Given the description of an element on the screen output the (x, y) to click on. 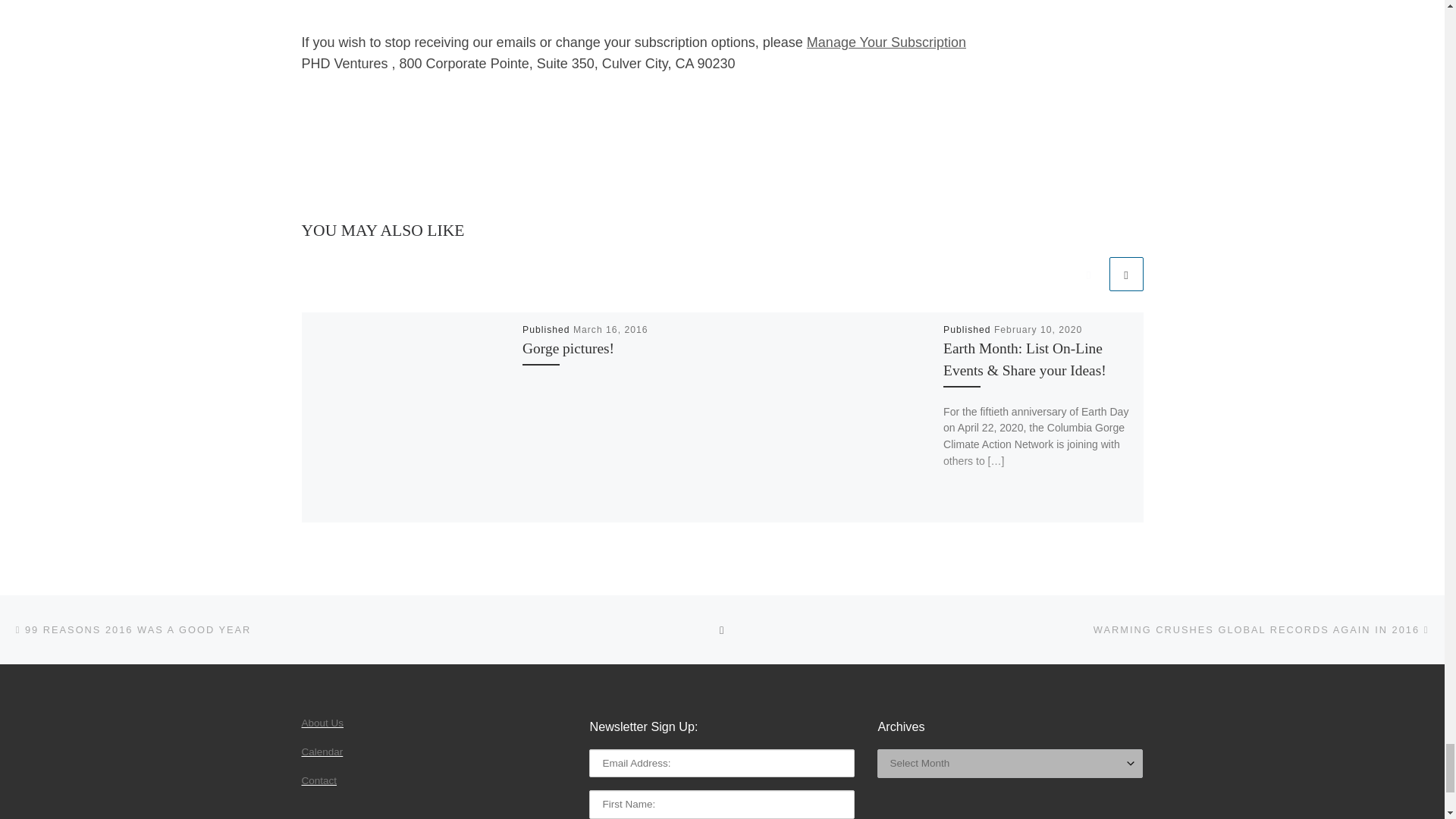
Next related articles (1125, 273)
Previous related articles (1088, 273)
